Given the description of an element on the screen output the (x, y) to click on. 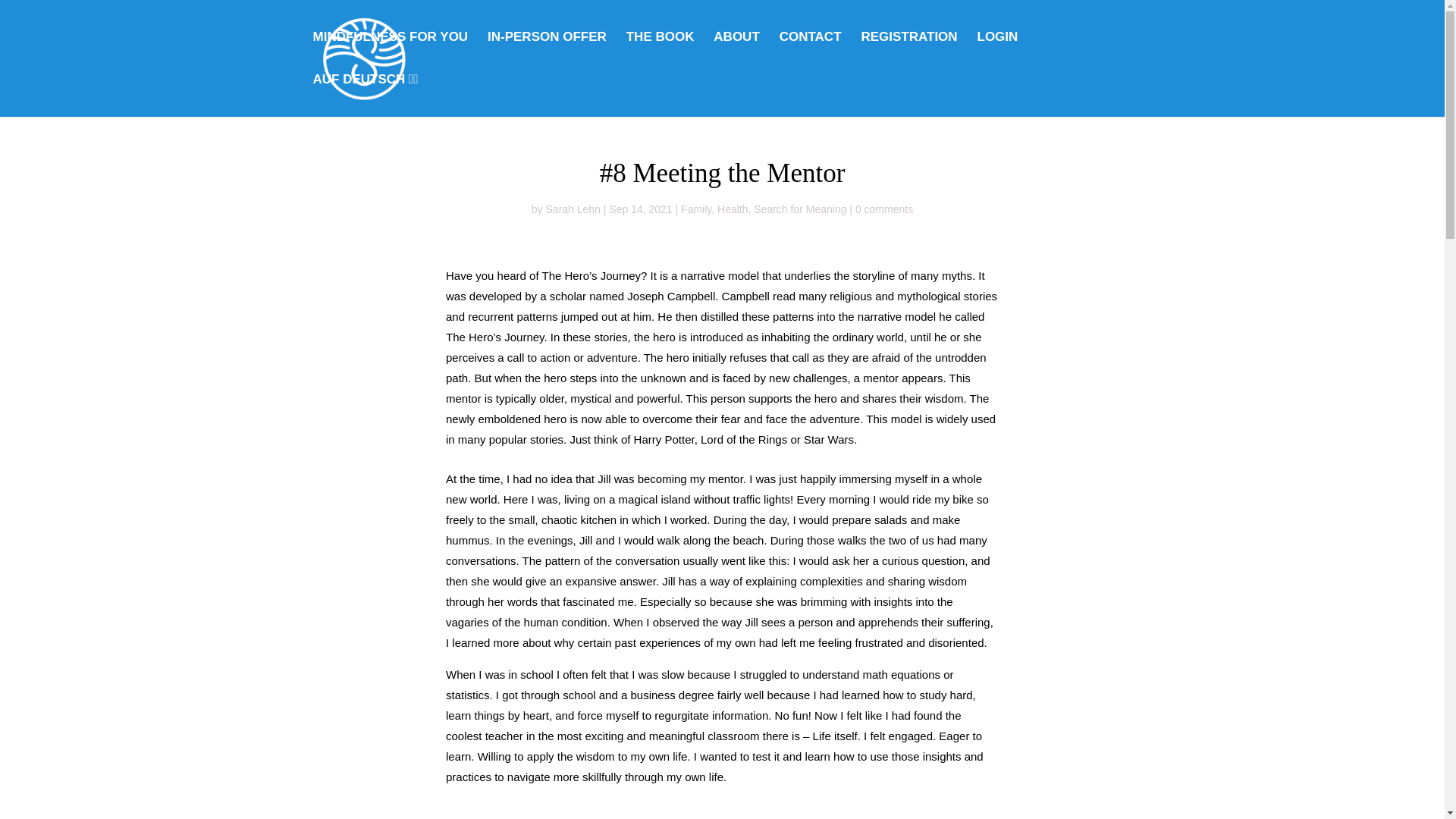
Sarah Lehn (572, 209)
Posts by Sarah Lehn (572, 209)
ABOUT (735, 52)
0 comments (884, 209)
IN-PERSON OFFER (547, 52)
MINDFULNESS FOR YOU (390, 52)
Family (696, 209)
Search for Meaning (799, 209)
REGISTRATION (908, 52)
THE BOOK (660, 52)
Health (732, 209)
LOGIN (996, 52)
CONTACT (809, 52)
